Given the description of an element on the screen output the (x, y) to click on. 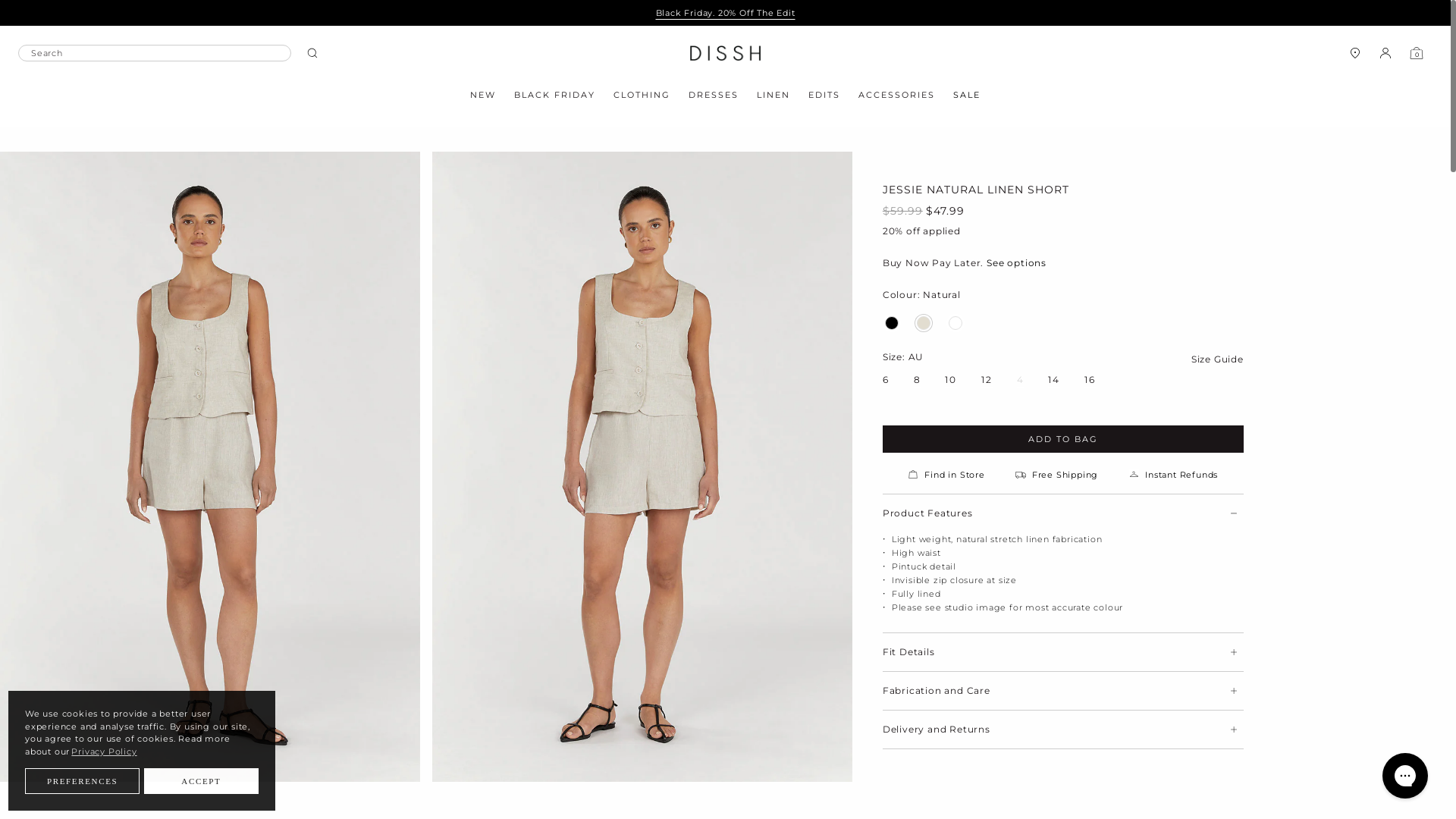
ACCEPT Element type: text (201, 780)
BLACK FRIDAY Element type: text (554, 97)
DRESSES Element type: text (713, 97)
CLOTHING Element type: text (641, 97)
Fit Details Element type: text (1062, 652)
Black Friday. 20% Off The Edit Element type: text (725, 12)
LINEN Element type: text (773, 97)
Delivery and Returns Element type: text (1062, 729)
Product Features Element type: text (1062, 513)
Cart
0
items Element type: text (1416, 52)
Fabrication and Care Element type: text (1062, 690)
Gorgias live chat messenger Element type: hover (1404, 775)
See options Element type: text (1016, 262)
SALE Element type: text (966, 97)
EDITS Element type: text (824, 97)
Privacy Policy Element type: text (103, 752)
Find in Store Element type: text (945, 474)
ACCESSORIES Element type: text (896, 97)
NEW Element type: text (483, 97)
Free Shipping Element type: text (1056, 474)
Instant Refunds Element type: text (1172, 474)
ADD TO BAG Element type: text (1062, 438)
PREFERENCES Element type: text (82, 780)
